Given the description of an element on the screen output the (x, y) to click on. 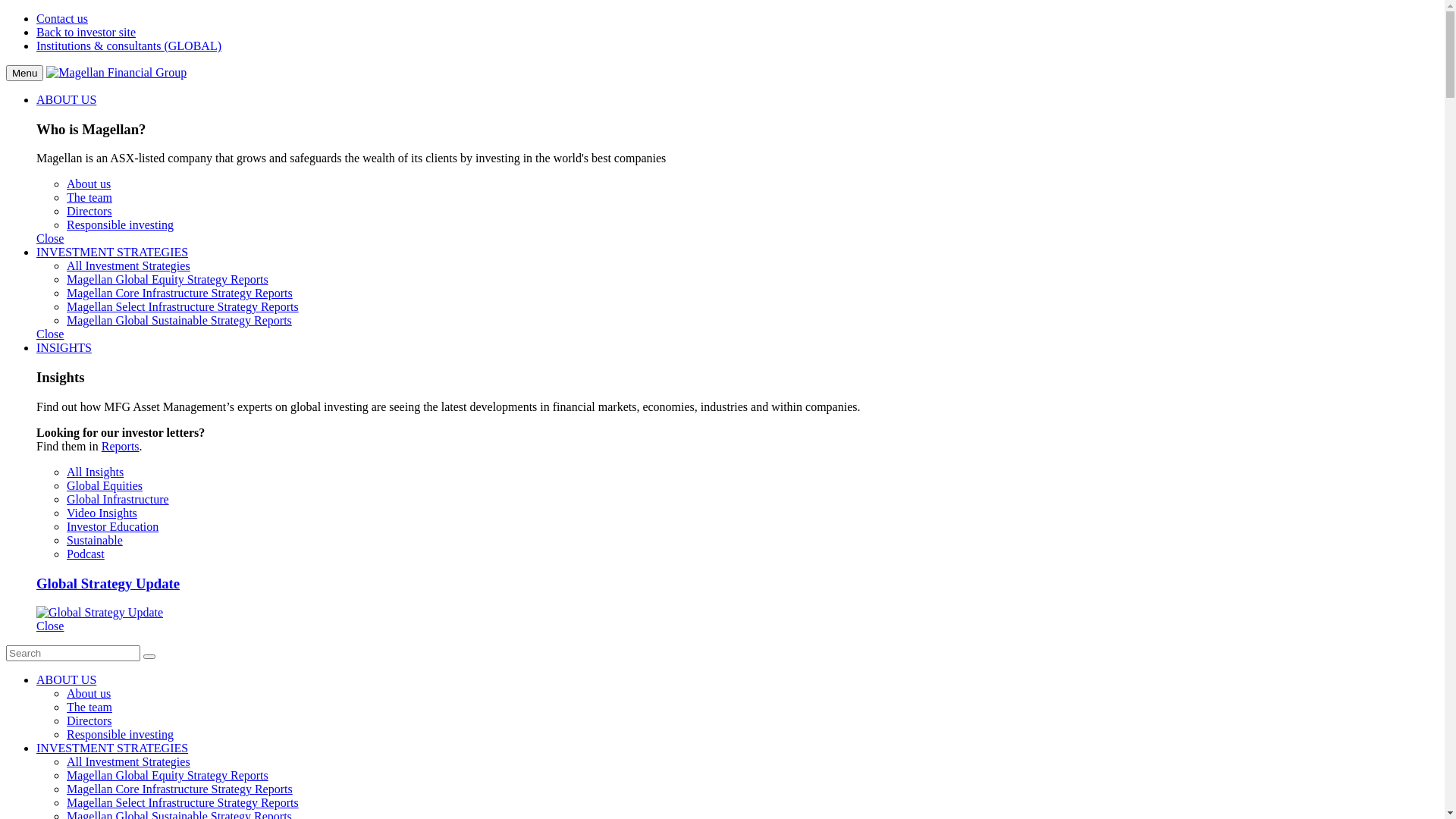
About us Element type: text (88, 183)
Magellan Global Sustainable Strategy Element type: text (160, 319)
ABOUT US Element type: text (66, 679)
Contact us Element type: text (61, 18)
Sustainable Element type: text (94, 539)
Reports Element type: text (279, 802)
Close Element type: text (49, 333)
Directors Element type: text (89, 720)
Global Infrastructure Element type: text (117, 498)
INVESTMENT STRATEGIES Element type: text (112, 747)
Menu Element type: text (24, 73)
All Insights Element type: text (94, 471)
Back to investor site Element type: text (85, 31)
Podcast Element type: text (85, 553)
Close Element type: text (49, 238)
INSIGHTS Element type: text (63, 347)
Video Insights Element type: text (101, 512)
Magellan Core Infrastructure Strategy Element type: text (160, 292)
Magellan Select Infrastructure Strategy Element type: text (163, 306)
All Investment Strategies Element type: text (128, 761)
Close Element type: text (49, 625)
Magellan Global Equity Strategy Element type: text (148, 774)
Directors Element type: text (89, 210)
Reports Element type: text (273, 292)
Reports Element type: text (249, 774)
Responsible investing Element type: text (119, 224)
The team Element type: text (89, 706)
Reports Element type: text (279, 306)
INVESTMENT STRATEGIES Element type: text (112, 251)
Institutions & consultants (GLOBAL) Element type: text (128, 45)
ABOUT US Element type: text (66, 99)
Reports Element type: text (249, 279)
Reports Element type: text (120, 445)
About us Element type: text (88, 693)
Investor Education Element type: text (112, 526)
Magellan Core Infrastructure Strategy Element type: text (160, 788)
Reports Element type: text (273, 788)
Global Strategy Update Element type: text (737, 597)
Responsible investing Element type: text (119, 734)
The team Element type: text (89, 197)
Global Equities Element type: text (104, 485)
All Investment Strategies Element type: text (128, 265)
Magellan Select Infrastructure Strategy Element type: text (163, 802)
Magellan Global Equity Strategy Element type: text (148, 279)
Reports Element type: text (272, 319)
